Given the description of an element on the screen output the (x, y) to click on. 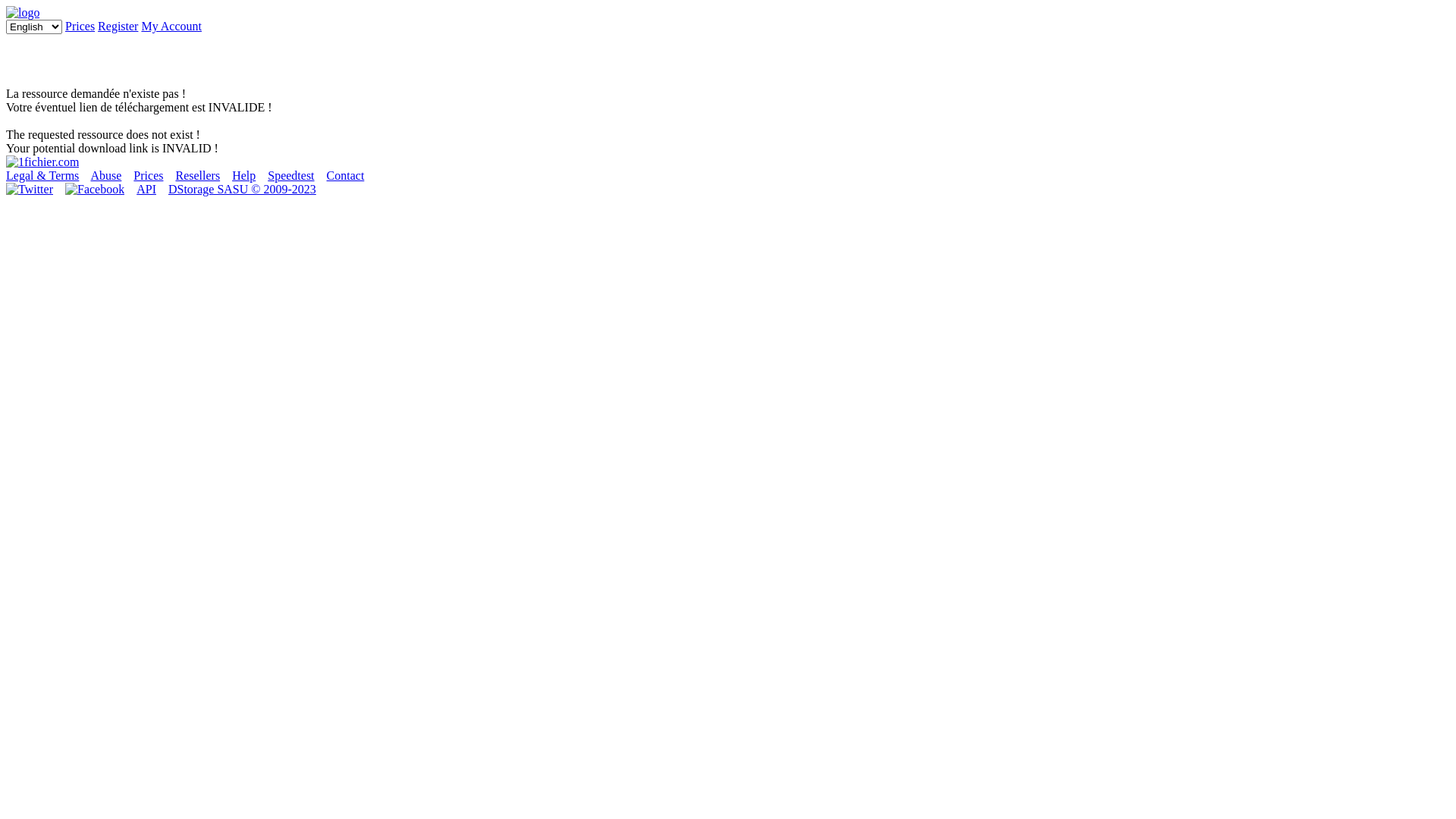
Help Element type: text (243, 175)
Register Element type: text (117, 25)
1fichier.com Element type: hover (22, 12)
API Element type: text (146, 188)
Abuse Element type: text (105, 175)
Back to home page Element type: hover (42, 161)
Prices Element type: text (79, 25)
Resellers Element type: text (197, 175)
My Account Element type: text (171, 25)
Speedtest Element type: text (290, 175)
Contact Element type: text (345, 175)
Legal & Terms Element type: text (42, 175)
Prices Element type: text (148, 175)
